Given the description of an element on the screen output the (x, y) to click on. 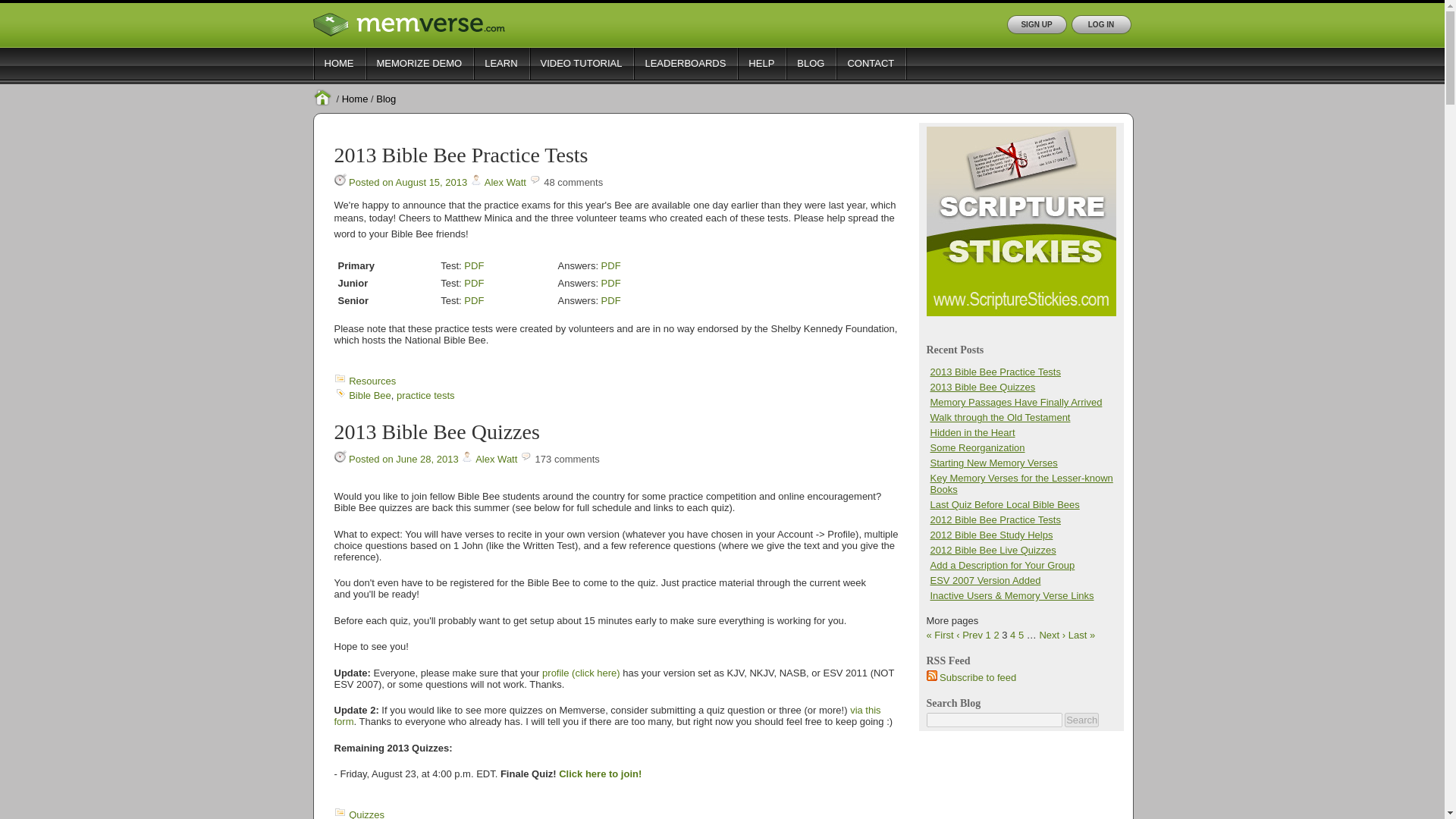
HOME (339, 63)
PDF (473, 265)
Blog (385, 98)
VIDEO TUTORIAL (581, 63)
2013 Bible Bee Quizzes (435, 431)
PDF (611, 283)
Alex Watt (496, 459)
PDF (473, 283)
Search (1081, 719)
Click here to join! (600, 773)
SIGN UP (1037, 24)
Resources (372, 380)
LEARN (500, 63)
2013 Bible Bee Practice Tests (460, 155)
PDF (611, 300)
